Given the description of an element on the screen output the (x, y) to click on. 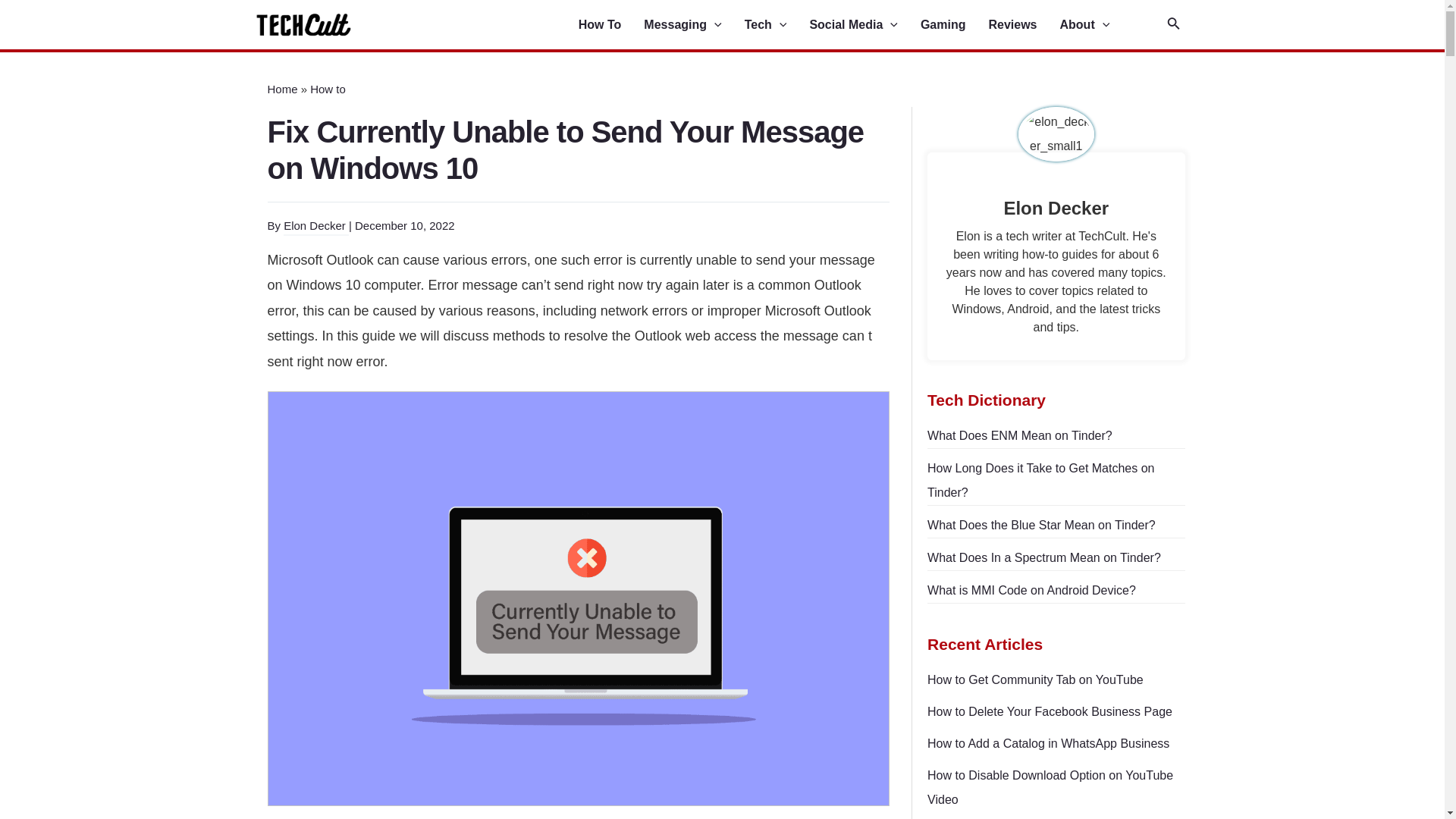
Reviews (1023, 25)
How To (611, 25)
Gaming (954, 25)
View all posts by Elon Decker (316, 226)
Home (281, 88)
Messaging (693, 25)
About (1095, 25)
Tech (776, 25)
Social Media (864, 25)
